Given the description of an element on the screen output the (x, y) to click on. 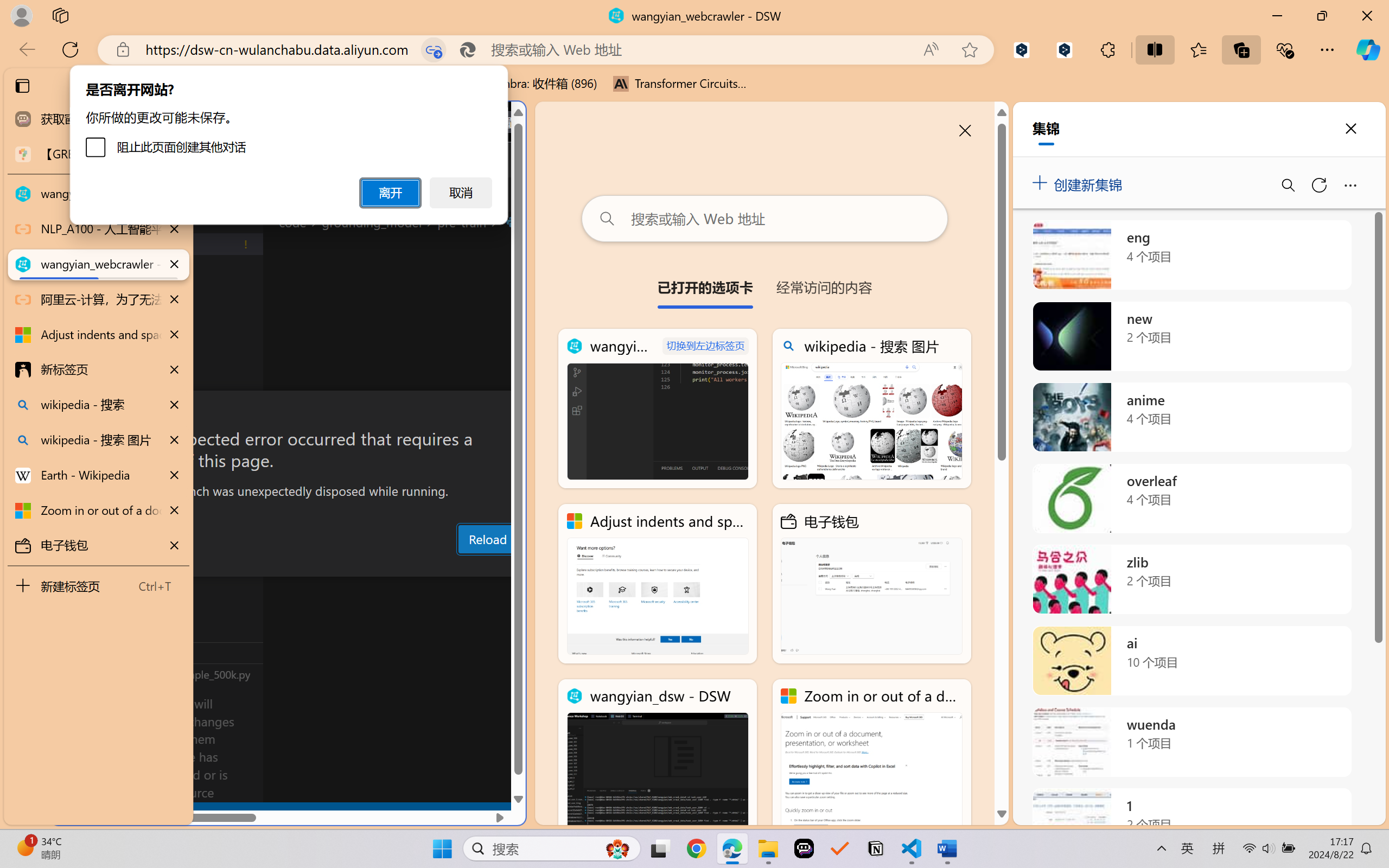
Debug Console (Ctrl+Shift+Y) (463, 565)
Adjust indents and spacing - Microsoft Support (657, 583)
Timeline Section (179, 673)
